Given the description of an element on the screen output the (x, y) to click on. 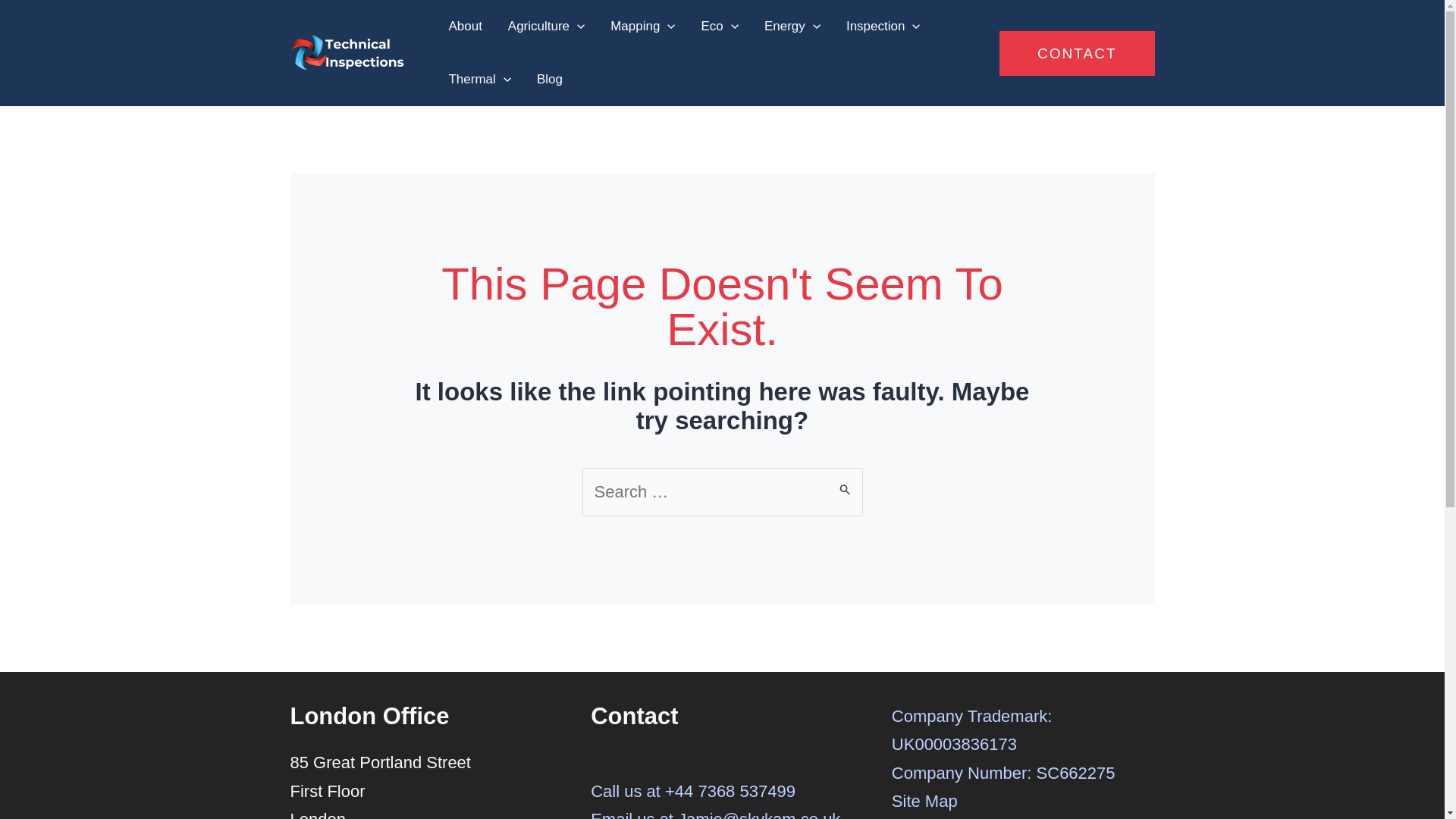
Energy (791, 26)
About (465, 26)
Agriculture (545, 26)
Mapping (641, 26)
Eco (719, 26)
Search (844, 482)
Thermal (478, 79)
Inspection (882, 26)
Search (844, 482)
